Given the description of an element on the screen output the (x, y) to click on. 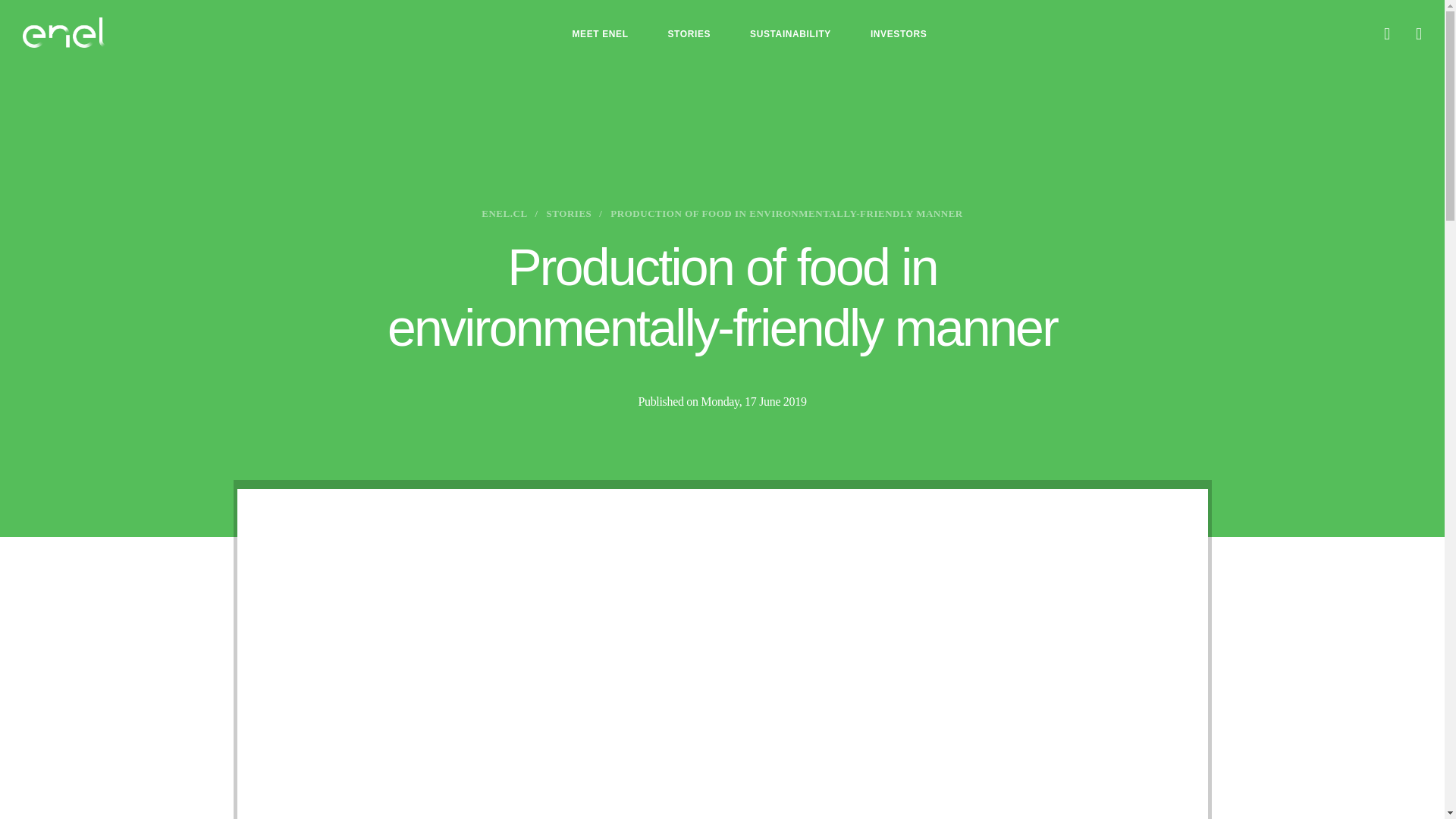
Ir al inicio del sitio. (63, 32)
Ir a la pagina Stories. (569, 213)
Ir a la pagina enel.cl. (504, 213)
INVESTORS (899, 33)
SUSTAINABILITY (790, 33)
MEET ENEL (599, 33)
STORIES (688, 33)
